Given the description of an element on the screen output the (x, y) to click on. 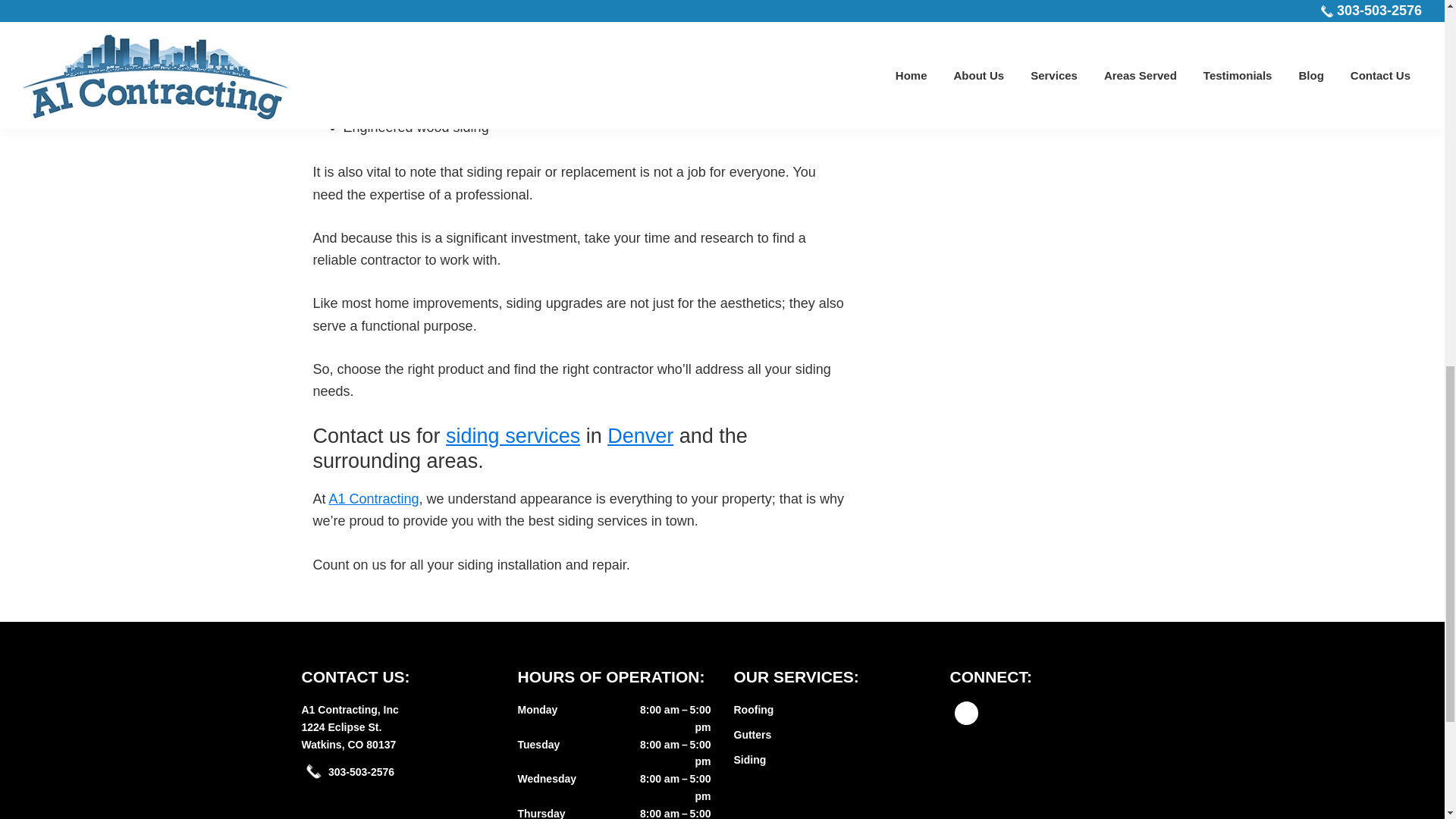
303-503-2576 (361, 771)
siding services (512, 436)
A1 Contracting (374, 498)
Denver (639, 436)
Gutters (752, 734)
A1 Contracting, Inc (348, 736)
Siding (349, 709)
Roofing (750, 759)
